Given the description of an element on the screen output the (x, y) to click on. 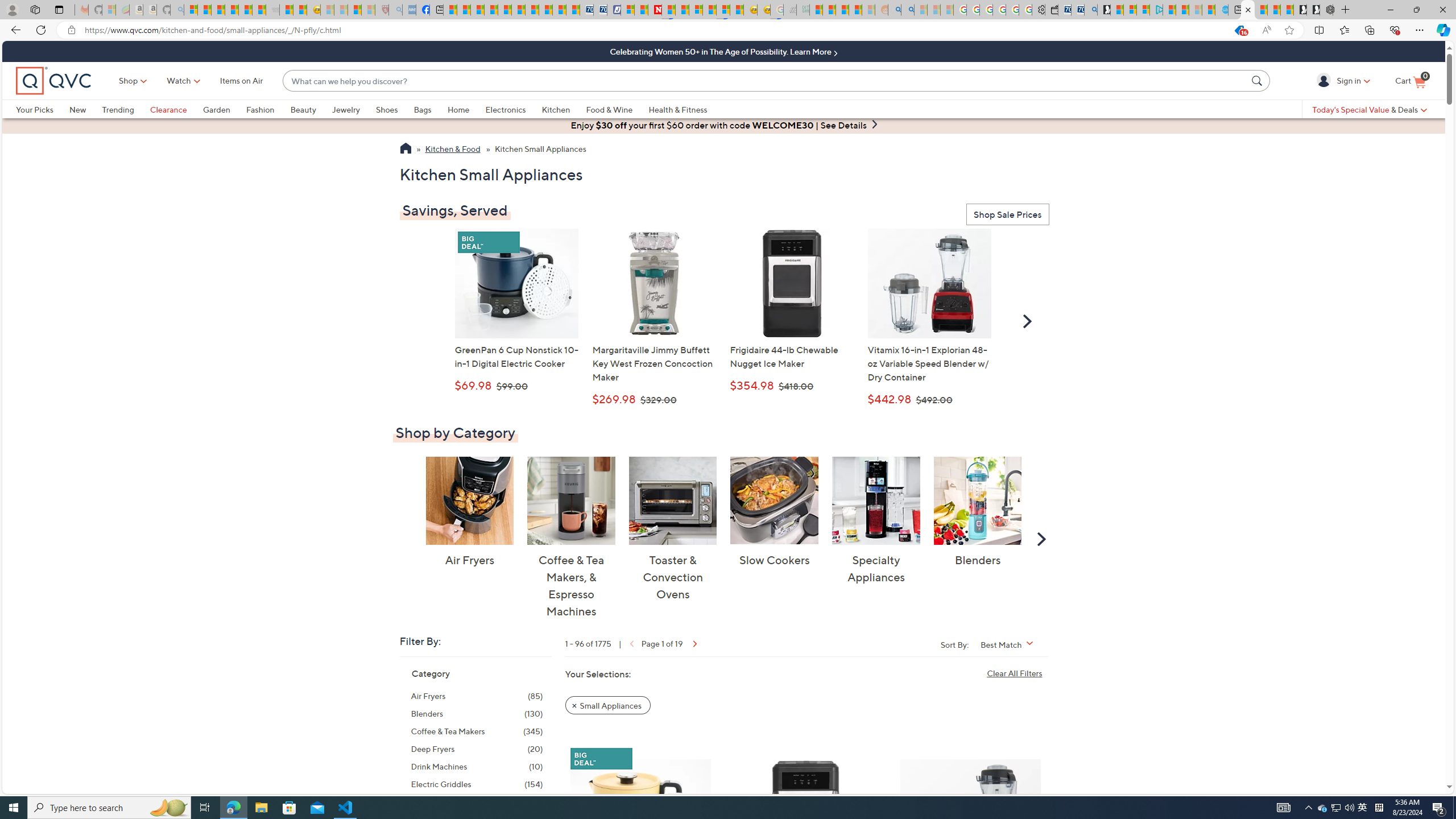
Slow Cookers Slow Cookers (774, 512)
Health & Fitness (680, 109)
QVC home (53, 80)
Trending (117, 109)
Combat Siege - Sleeping (271, 9)
